Given the description of an element on the screen output the (x, y) to click on. 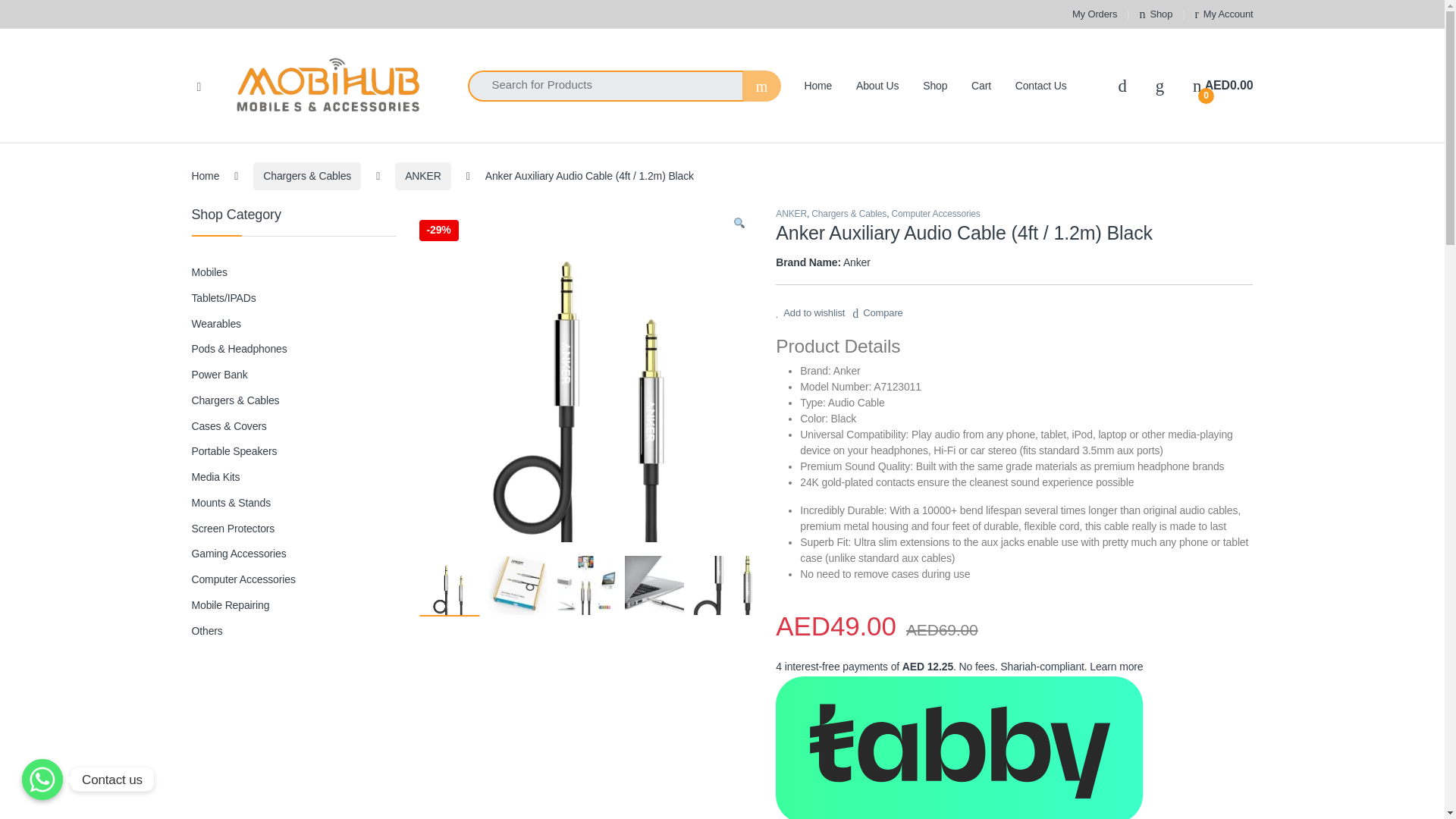
My Account (1224, 13)
Cart (981, 85)
Shop (1156, 13)
My Orders (1093, 13)
My Account (1224, 13)
Cart (981, 85)
Contact Us (1040, 85)
Home (817, 85)
Shop (1156, 13)
About Us (877, 85)
About Us (877, 85)
Shop (935, 85)
Home (204, 175)
Home (817, 85)
